Given the description of an element on the screen output the (x, y) to click on. 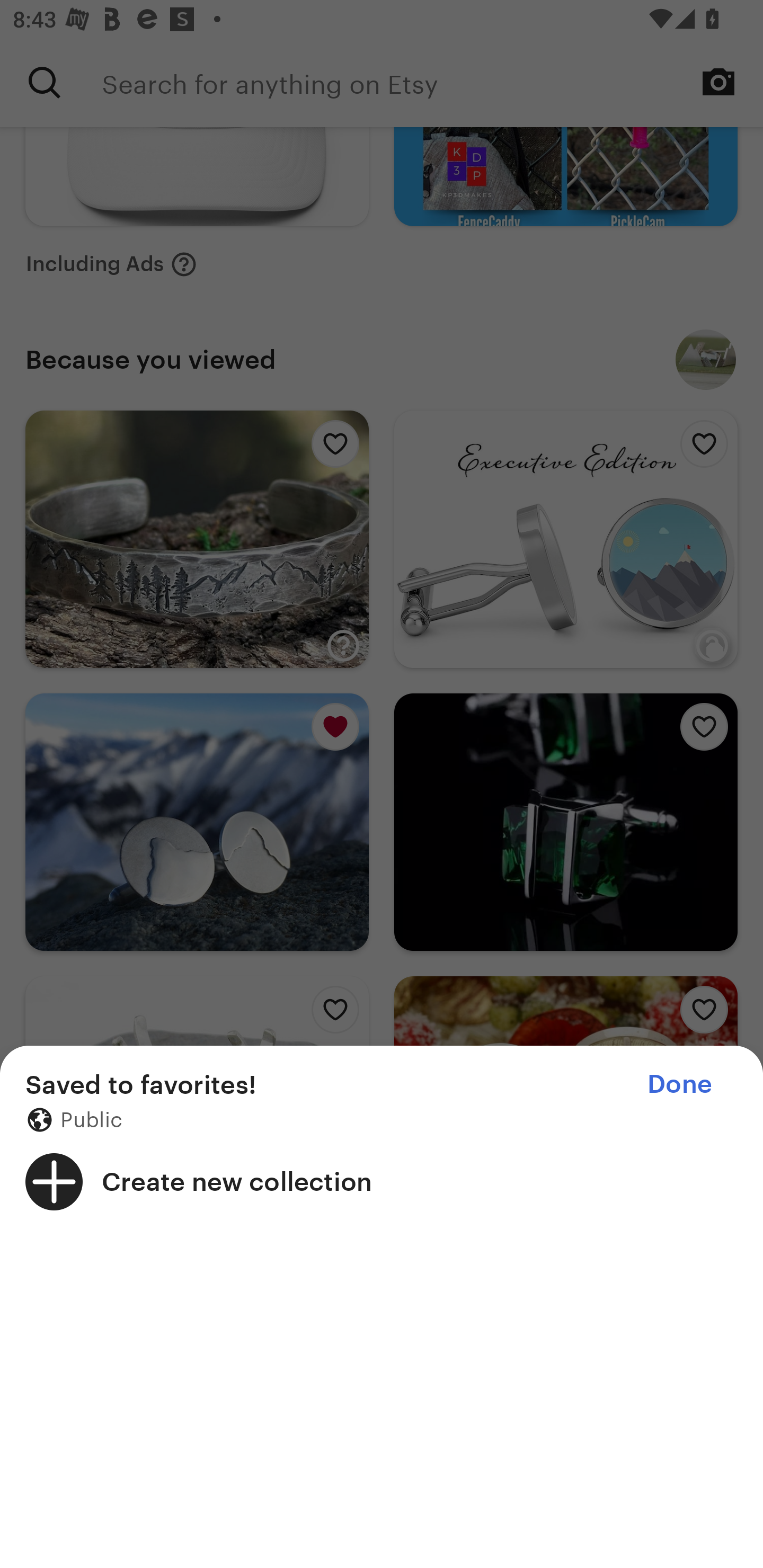
Done (679, 1083)
Create new collection (381, 1181)
